Given the description of an element on the screen output the (x, y) to click on. 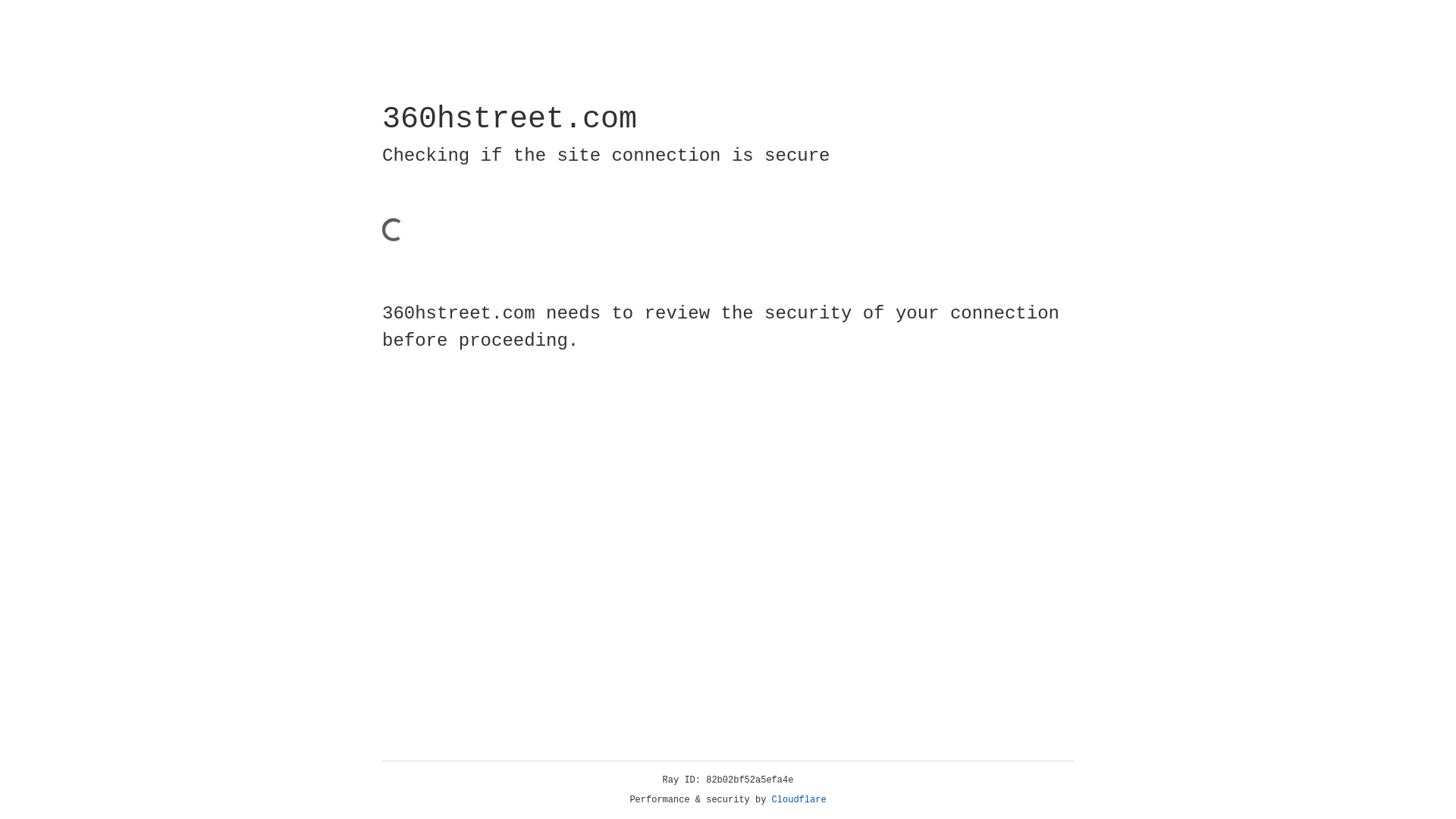
Cloudflare Element type: text (798, 799)
